Given the description of an element on the screen output the (x, y) to click on. 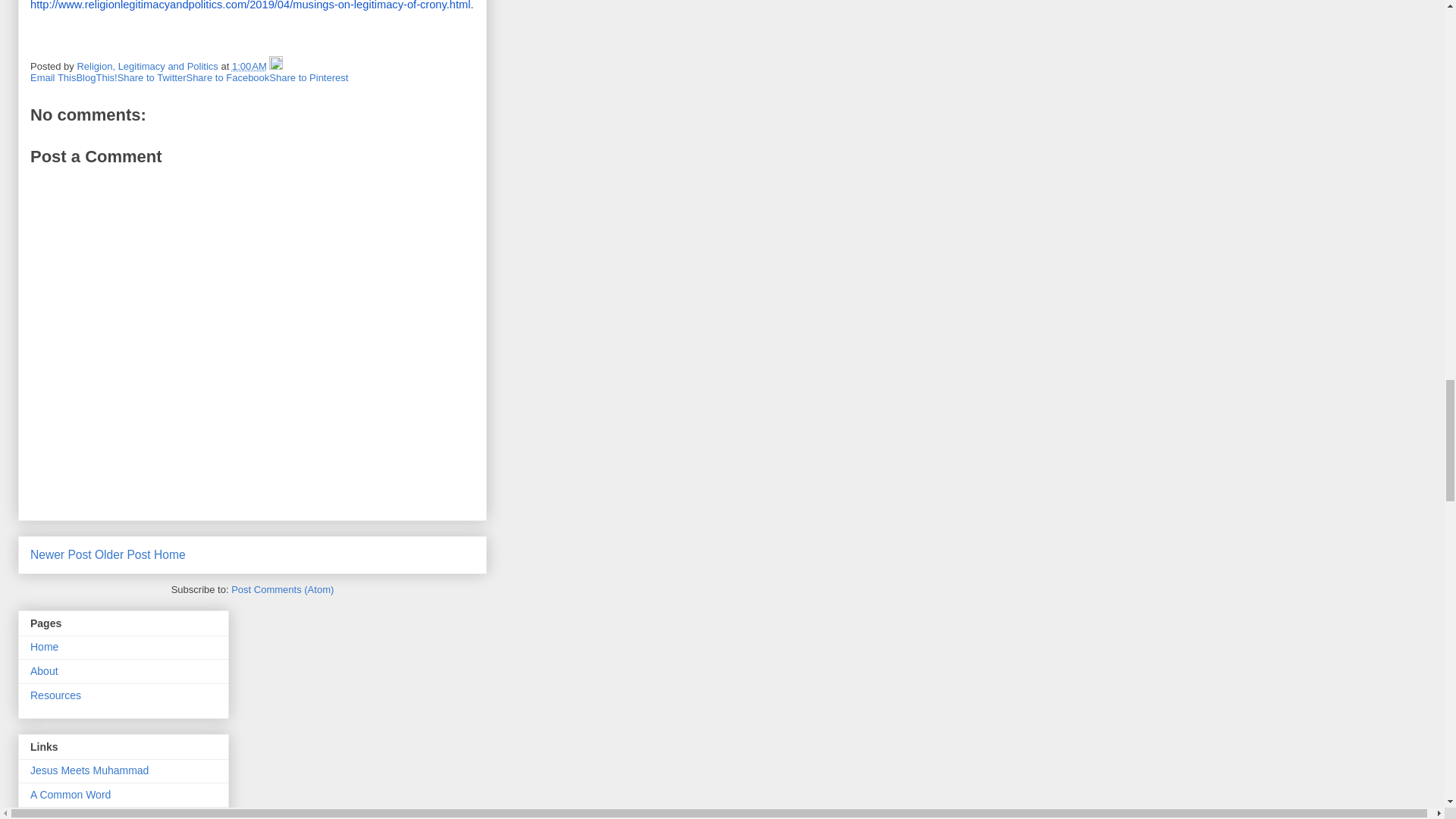
Email This (52, 77)
Newer Post (60, 554)
Jesus Meets Muhammad (89, 770)
BlogThis! (95, 77)
Pew Forum (57, 816)
Older Post (122, 554)
Religion, Legitimacy and Politics (149, 66)
Share to Twitter (151, 77)
Older Post (122, 554)
author profile (149, 66)
Edit Post (275, 66)
Share to Pinterest (308, 77)
Share to Pinterest (308, 77)
Share to Facebook (227, 77)
A Common Word (70, 794)
